Given the description of an element on the screen output the (x, y) to click on. 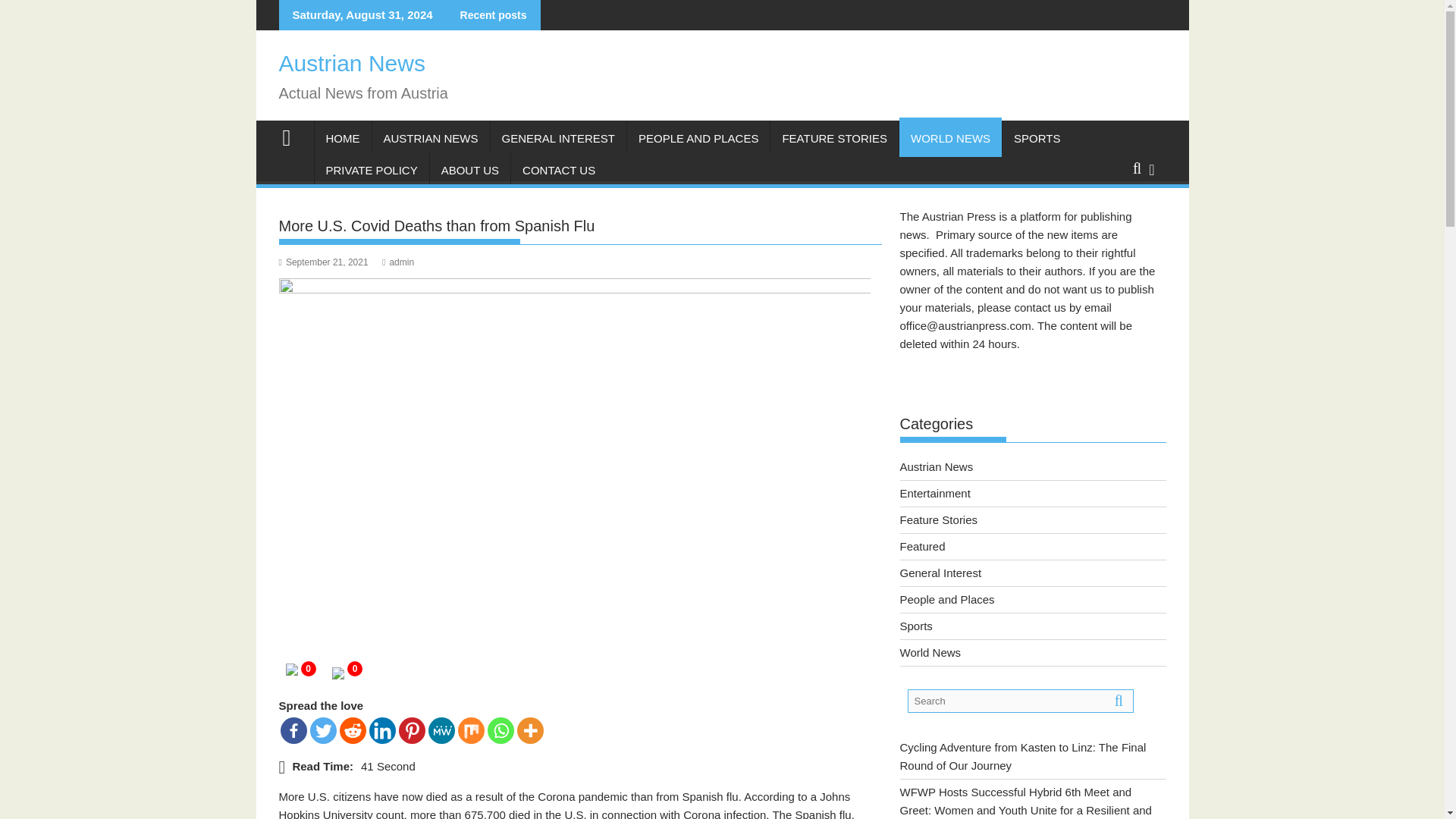
SPORTS (1037, 138)
AUSTRIAN NEWS (430, 138)
ABOUT US (470, 170)
Twitter (322, 730)
PEOPLE AND PLACES (698, 138)
FEATURE STORIES (834, 138)
MeWe (441, 730)
Mix (471, 730)
Reddit (352, 730)
PRIVATE POLICY (371, 170)
